Given the description of an element on the screen output the (x, y) to click on. 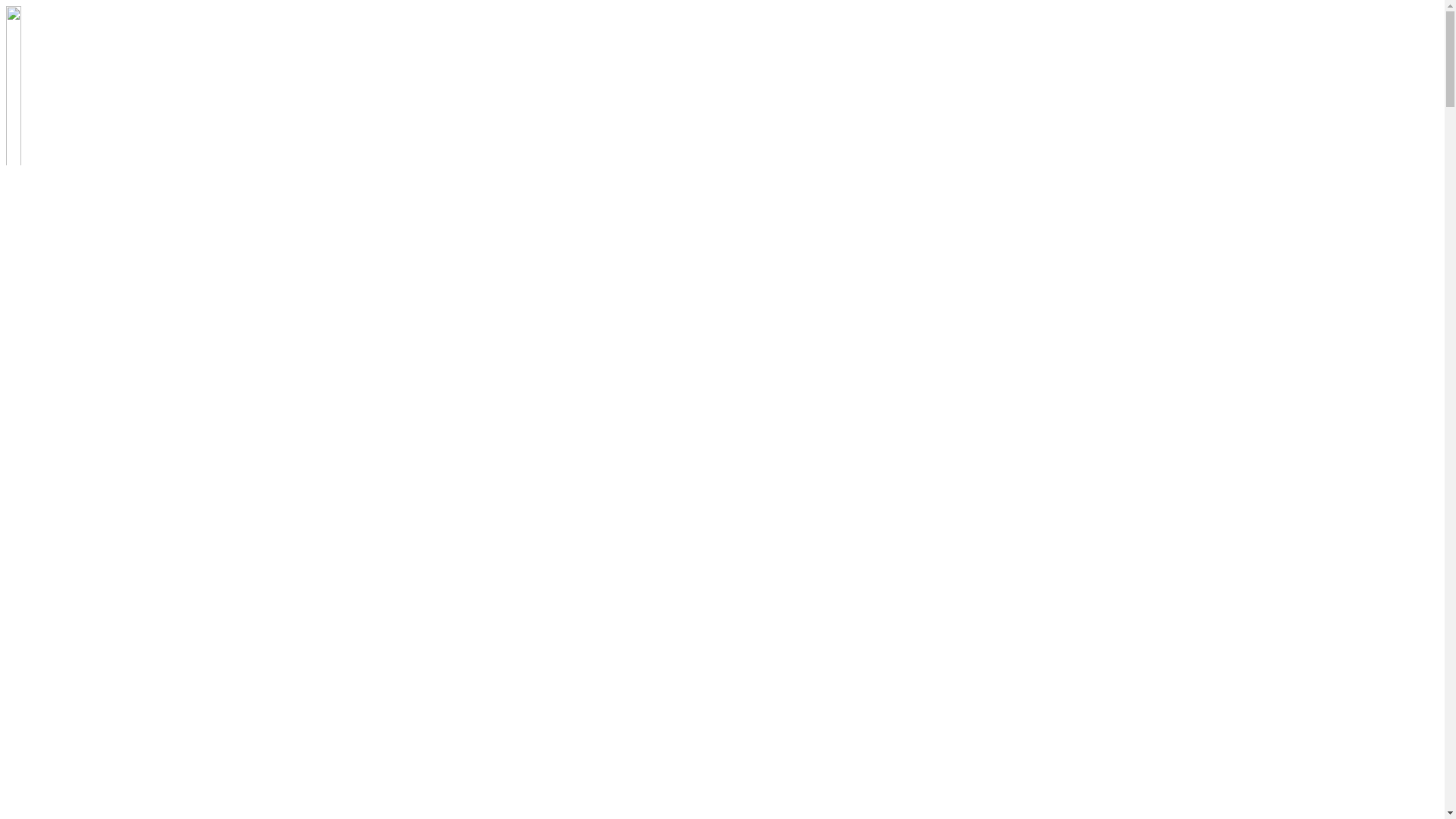
Skip to content Element type: text (5, 5)
